Given the description of an element on the screen output the (x, y) to click on. 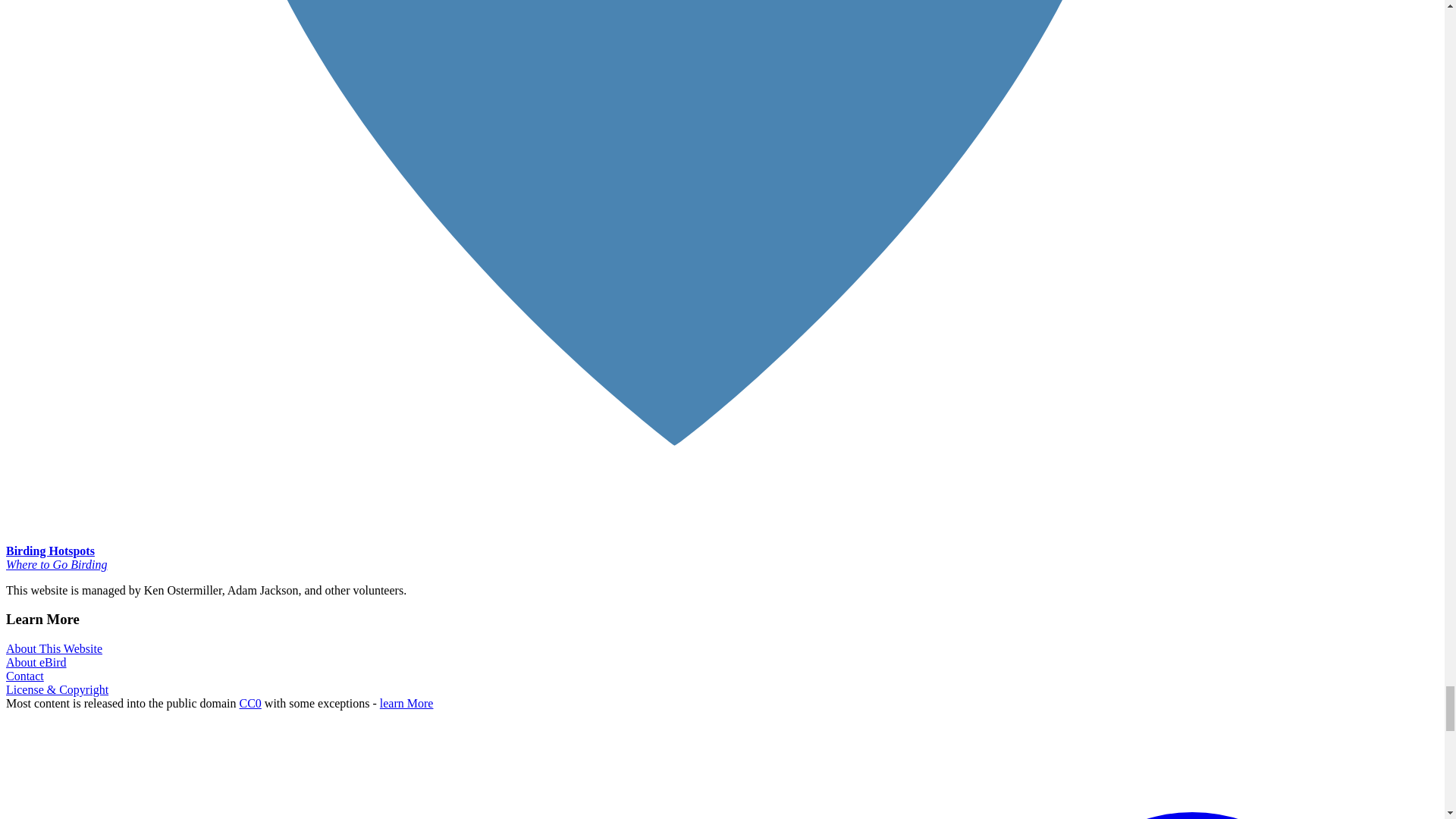
About eBird (35, 662)
About This Website (53, 648)
Contact (24, 675)
CC0 (251, 703)
learn More (406, 703)
